Given the description of an element on the screen output the (x, y) to click on. 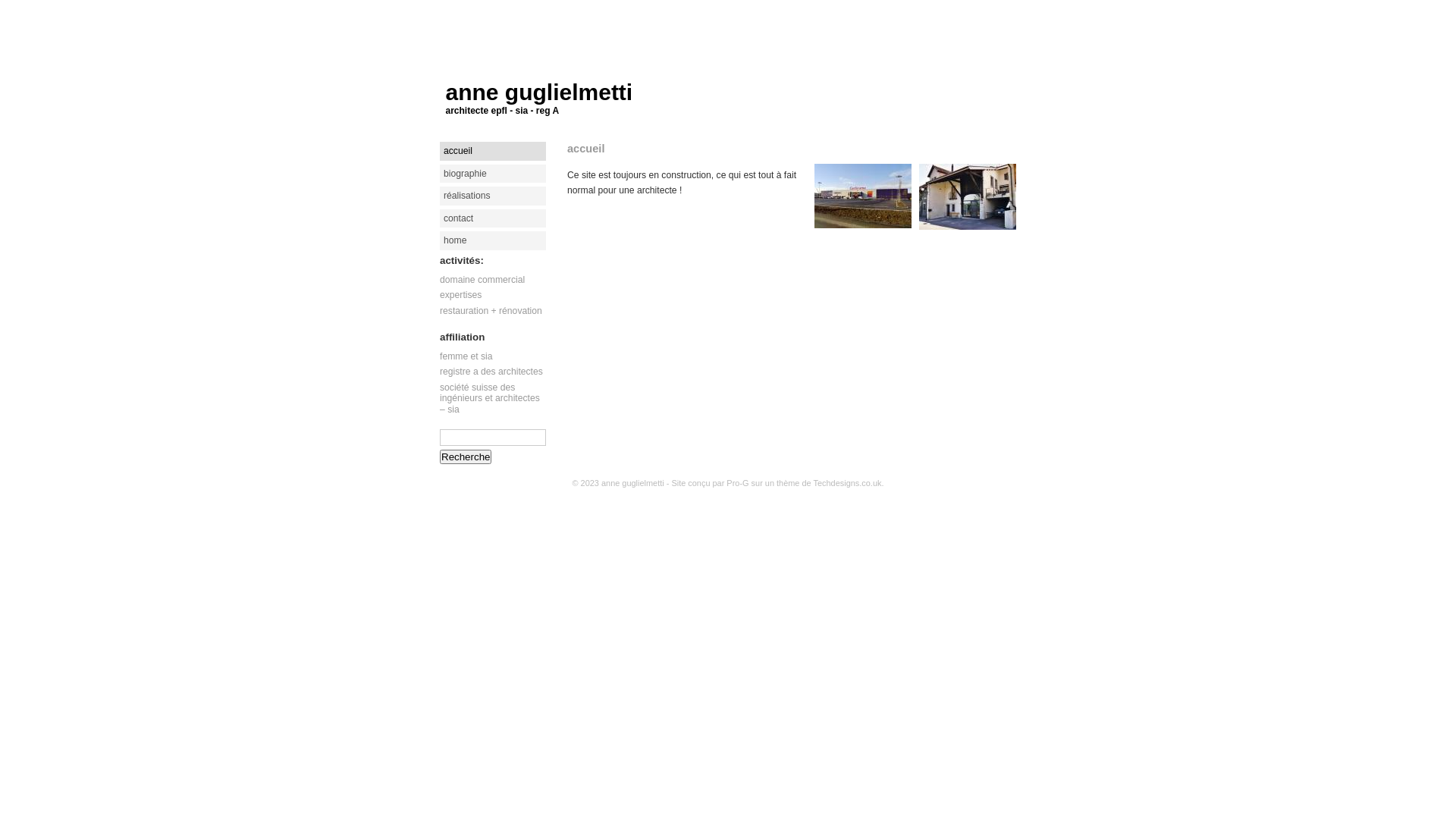
restauration & renovation Element type: hover (967, 196)
anne guglielmetti Element type: text (632, 482)
contact Element type: text (492, 218)
anne guglielmetti Element type: text (539, 91)
home Element type: text (492, 240)
accueil Element type: text (492, 150)
registre a des architectes Element type: text (490, 371)
expertises Element type: text (460, 294)
Techdesigns.co.uk Element type: text (846, 482)
biographie Element type: text (492, 173)
domaine commercial Element type: hover (862, 195)
accueil Element type: text (585, 148)
femme et sia Element type: text (465, 356)
domaine commercial Element type: text (481, 279)
Recherche Element type: text (465, 456)
